Given the description of an element on the screen output the (x, y) to click on. 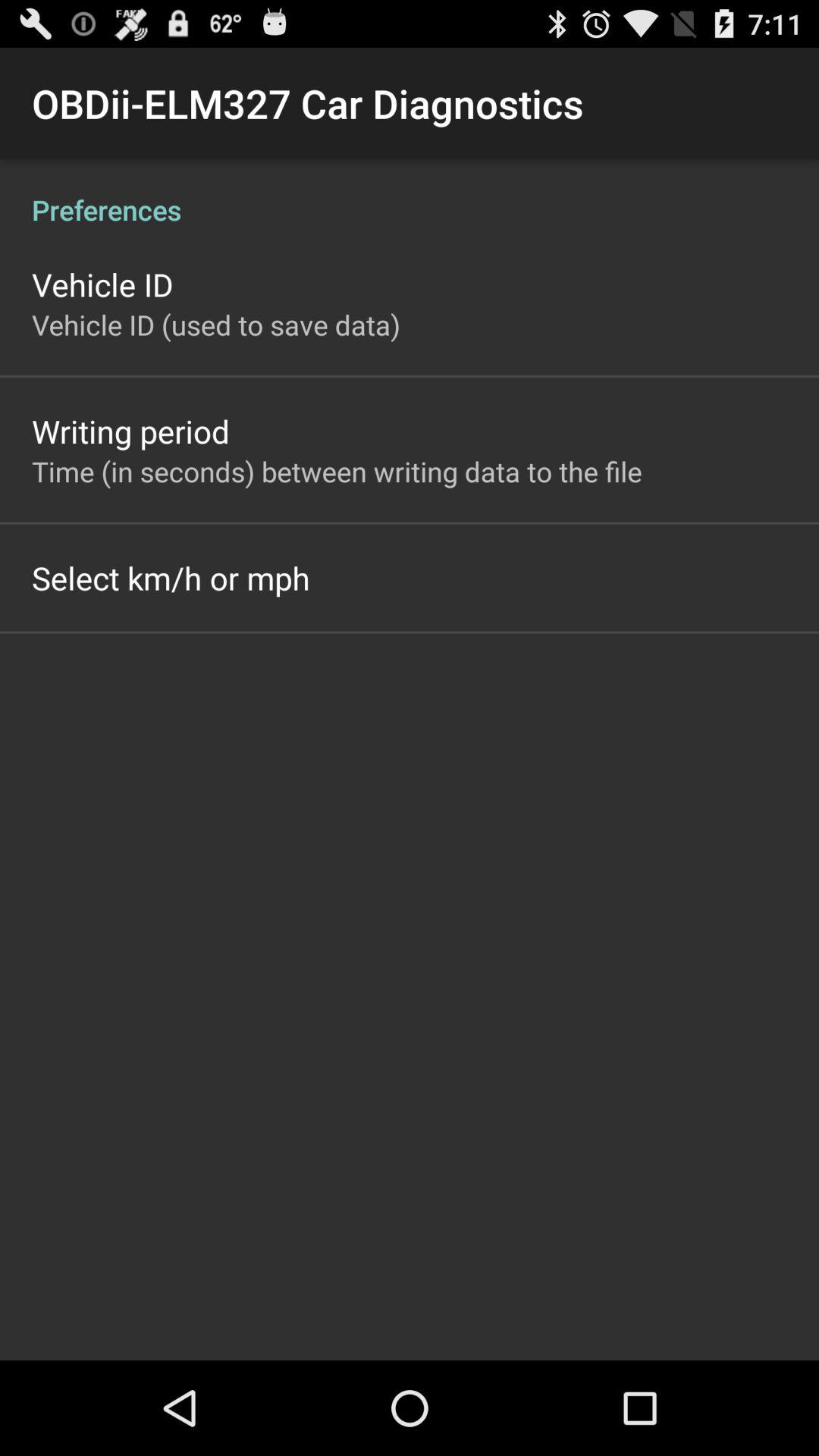
choose app below the time in seconds (170, 577)
